Given the description of an element on the screen output the (x, y) to click on. 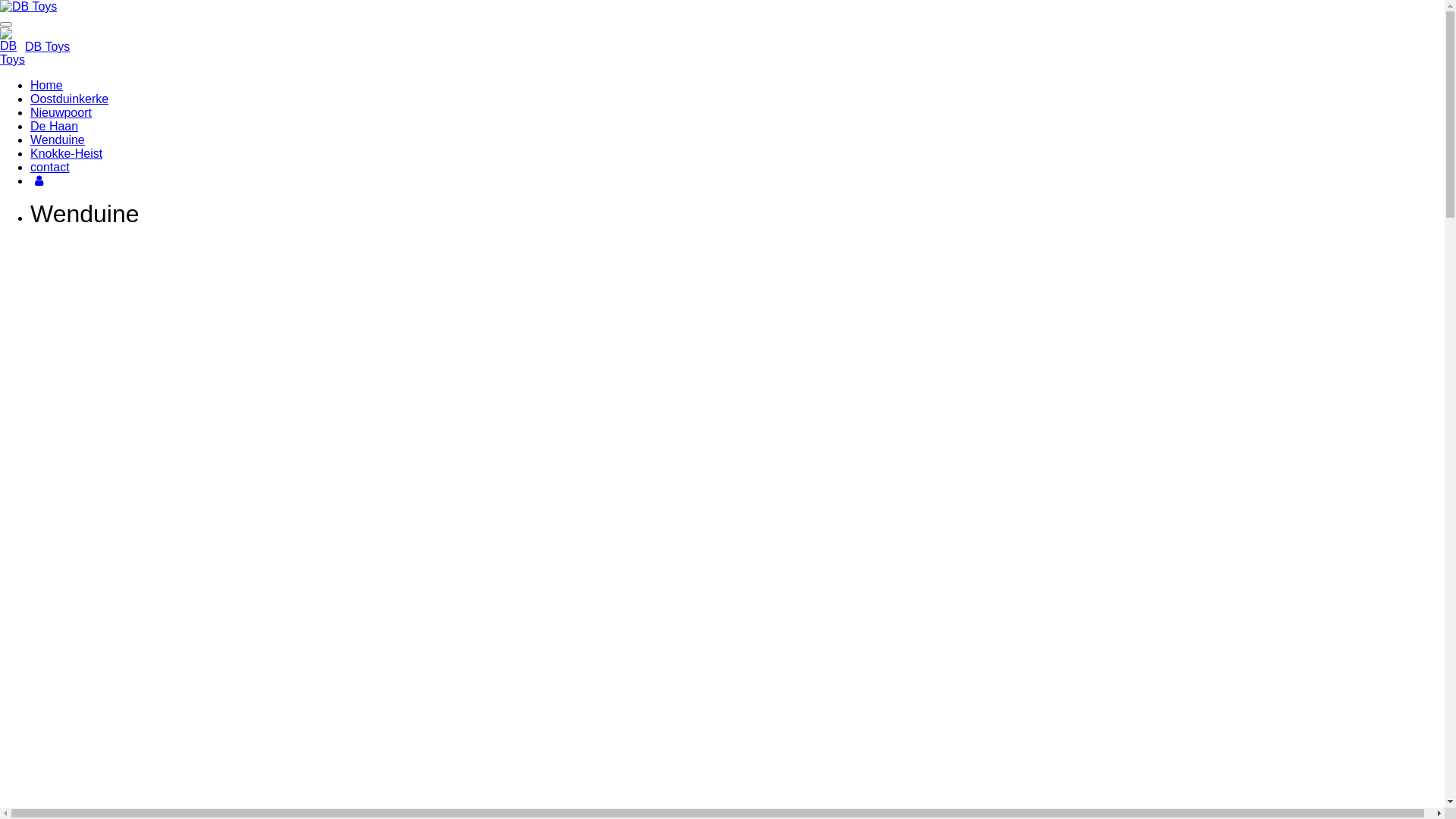
De Haan Element type: text (54, 125)
contact Element type: text (49, 166)
Nieuwpoort Element type: text (60, 112)
Wenduine Element type: text (57, 139)
DB Toys Element type: hover (28, 6)
Home Element type: text (46, 84)
Account Element type: hover (38, 180)
DB Toys Element type: text (47, 46)
DB Toys Element type: hover (12, 46)
Oostduinkerke Element type: text (69, 98)
Knokke-Heist Element type: text (66, 153)
